Given the description of an element on the screen output the (x, y) to click on. 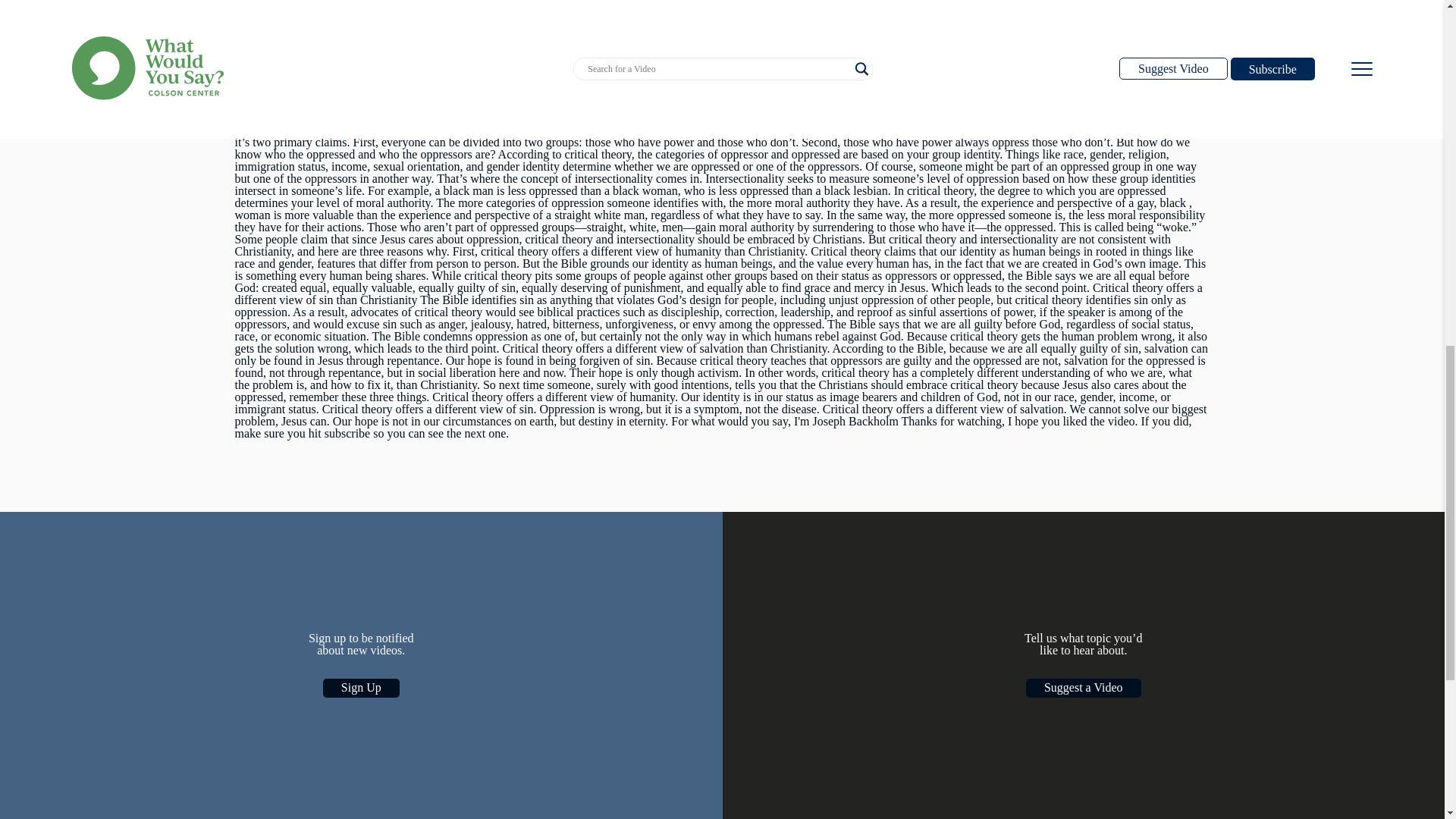
Sign Up (360, 688)
Suggest a Video (1083, 688)
